Given the description of an element on the screen output the (x, y) to click on. 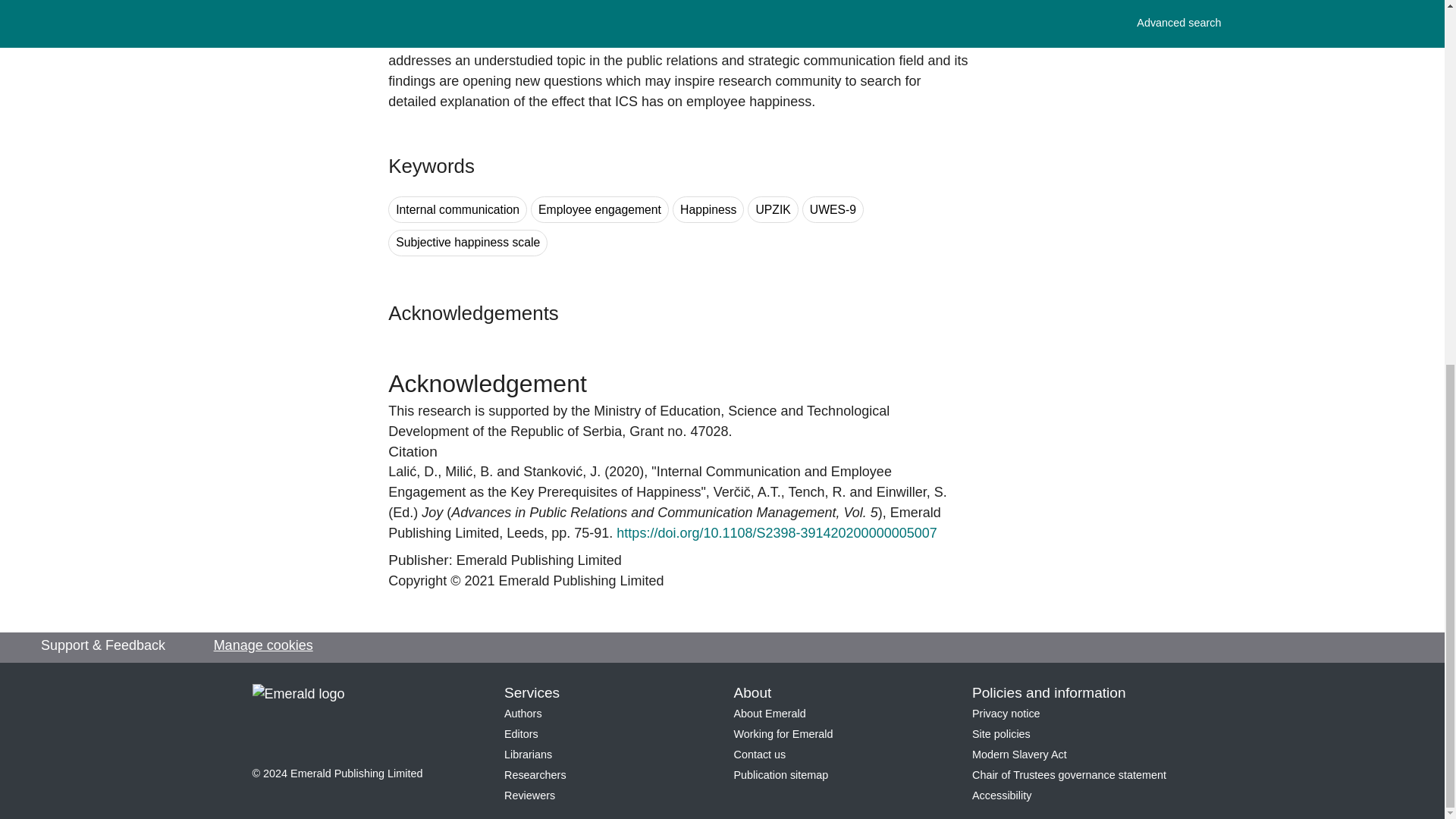
Search for keyword UPZIK (772, 209)
Search for keyword Happiness (708, 209)
Authors (522, 713)
Search for keyword UWES-9 (832, 209)
Subjective happiness scale (467, 243)
Tench, R. (817, 491)
Ralph Tench (817, 491)
Einwiller, S. (911, 491)
Search for keyword Subjective happiness scale (467, 243)
UPZIK (772, 209)
Editors (520, 734)
Search for keyword Internal communication (457, 209)
Happiness (708, 209)
UWES-9 (832, 209)
Sabine Einwiller (911, 491)
